Given the description of an element on the screen output the (x, y) to click on. 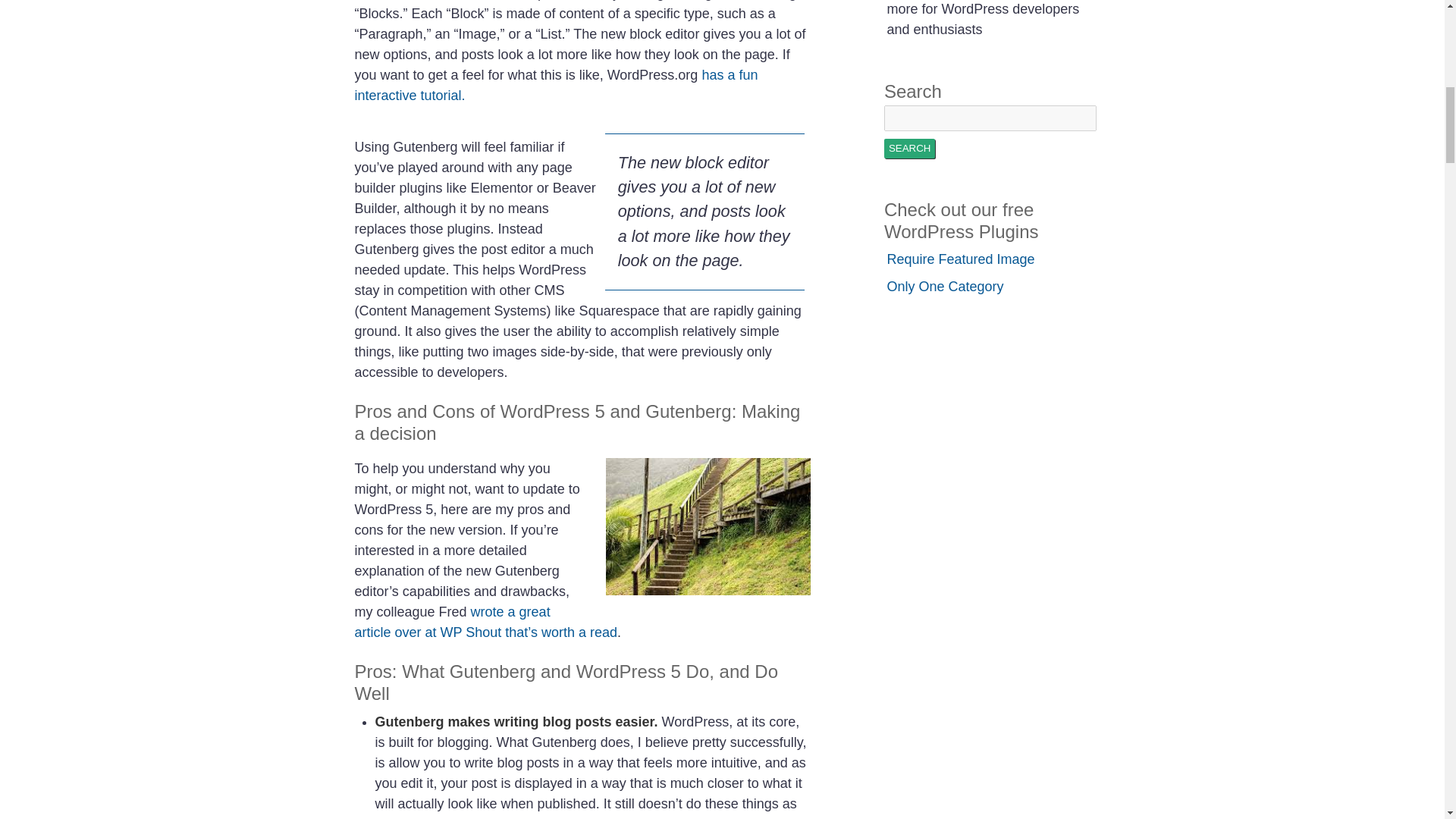
Search (909, 148)
Require Featured Image (960, 258)
Only One Category (945, 286)
Search (909, 148)
has a fun interactive tutorial. (556, 85)
Only One Category (945, 286)
Require Featured Image WordPress plugin (960, 258)
